Given the description of an element on the screen output the (x, y) to click on. 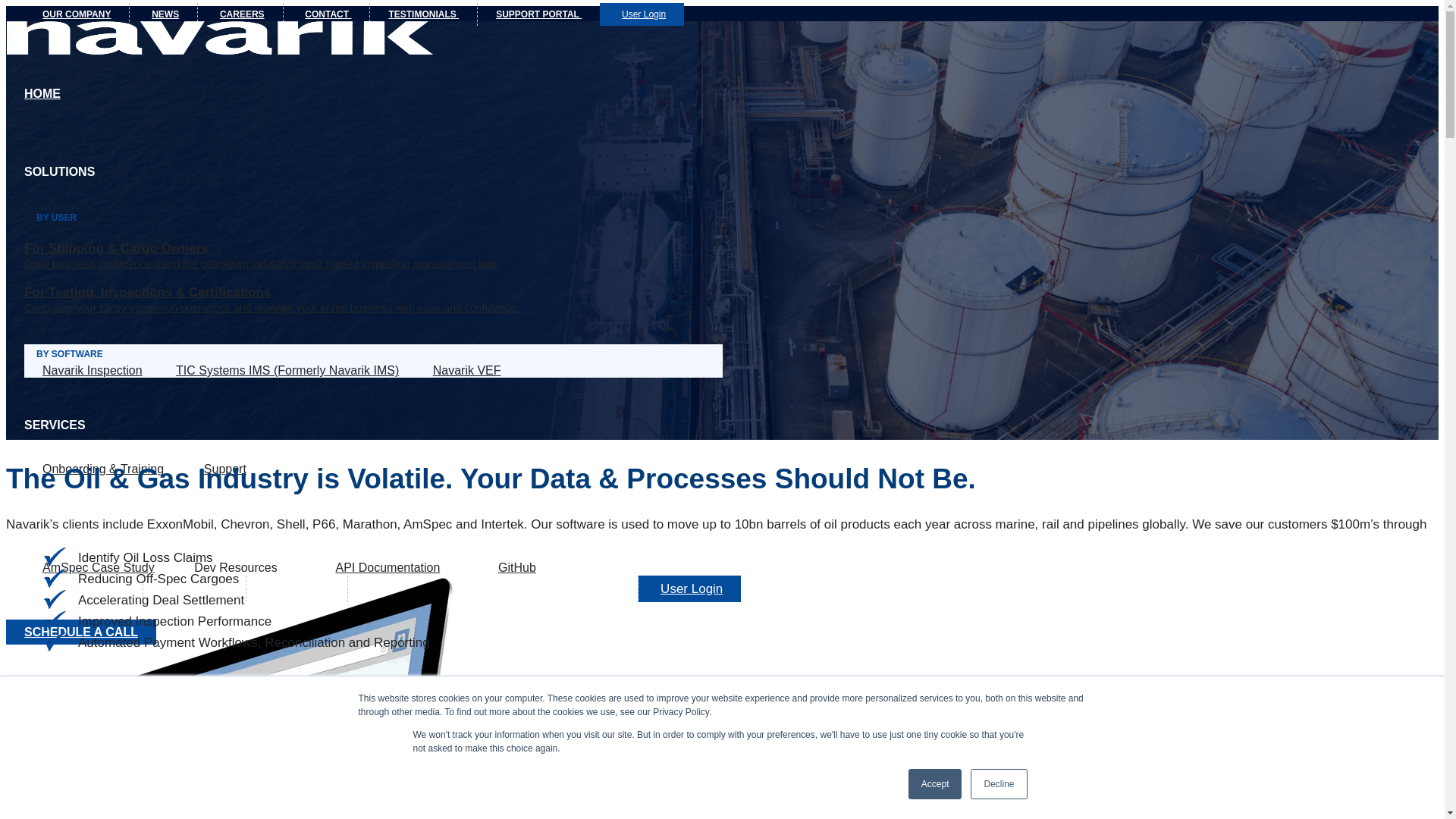
RESOURCES (62, 523)
Dev Resources (235, 567)
SUPPORT PORTAL (538, 14)
OUR COMPANY (76, 14)
Navarik VEF (463, 370)
SERVICES (54, 424)
Accept (935, 784)
HOME (41, 93)
TESTIMONIALS (423, 14)
AmSpec Case Study (98, 567)
